Given the description of an element on the screen output the (x, y) to click on. 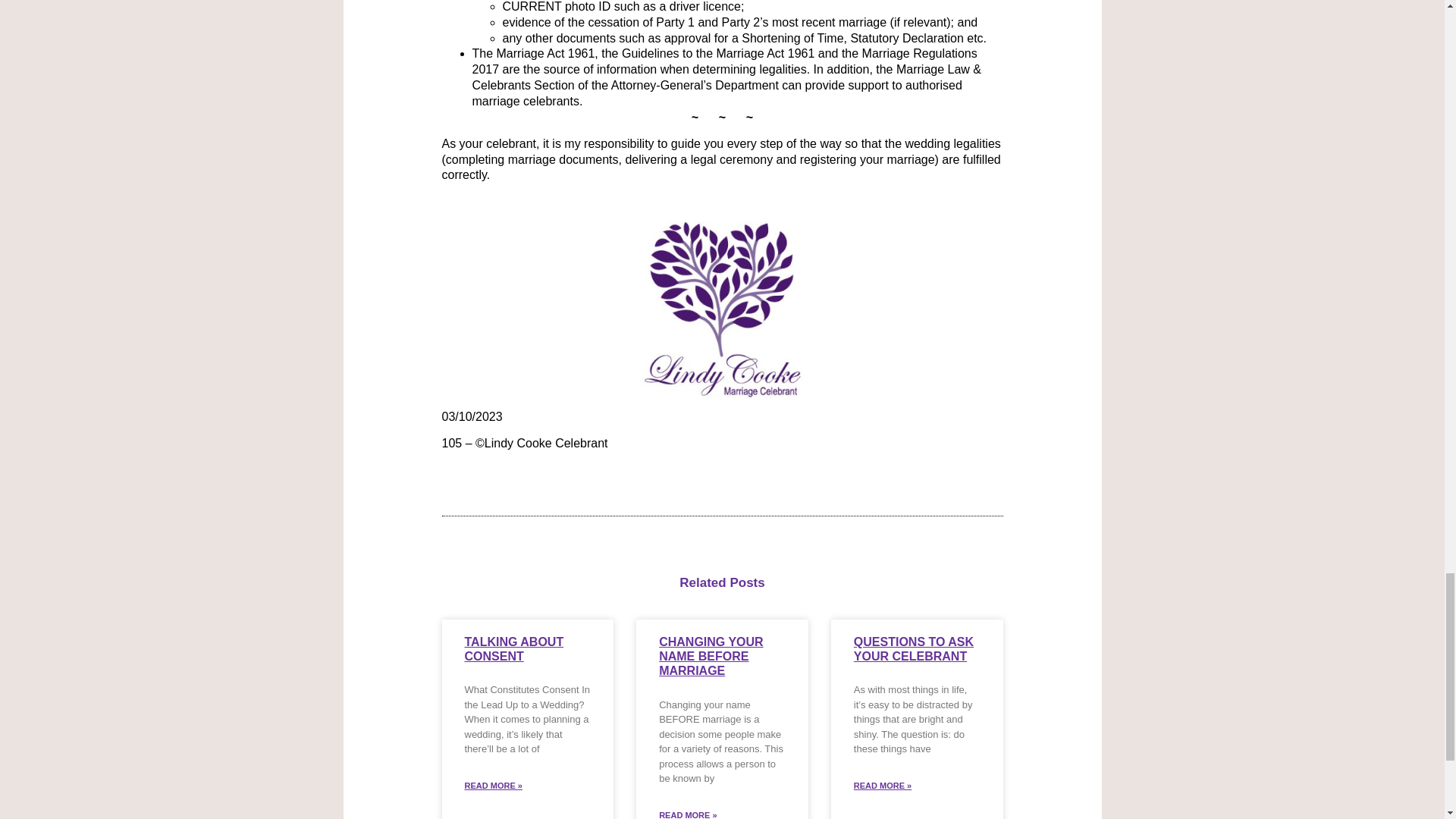
CHANGING YOUR NAME BEFORE MARRIAGE (710, 656)
QUESTIONS TO ASK YOUR CELEBRANT (913, 648)
TALKING ABOUT CONSENT (513, 648)
